Given the description of an element on the screen output the (x, y) to click on. 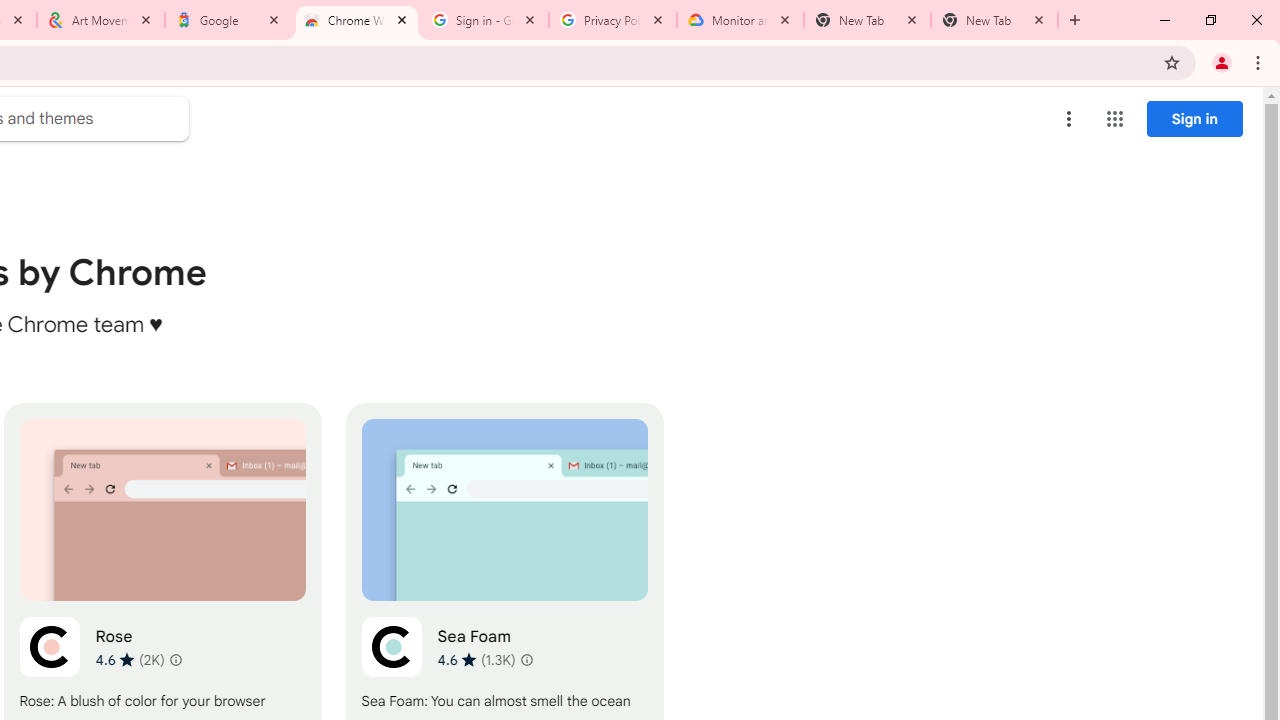
More options menu (1069, 118)
Chrome Web Store - Color themes by Chrome (357, 20)
Average rating 4.6 out of 5 stars. 1.3K ratings. (475, 659)
